Given the description of an element on the screen output the (x, y) to click on. 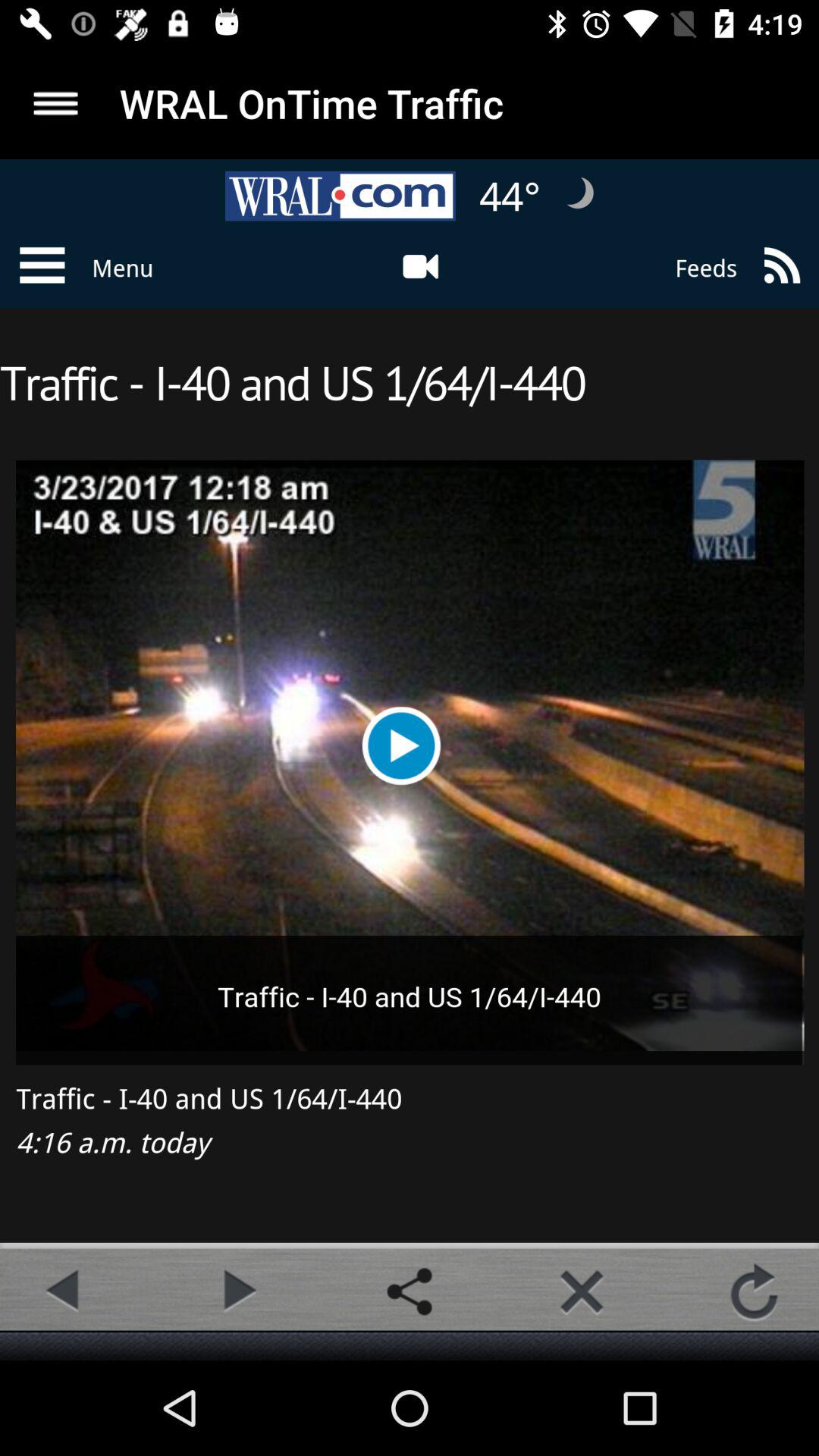
close button (581, 1291)
